Given the description of an element on the screen output the (x, y) to click on. 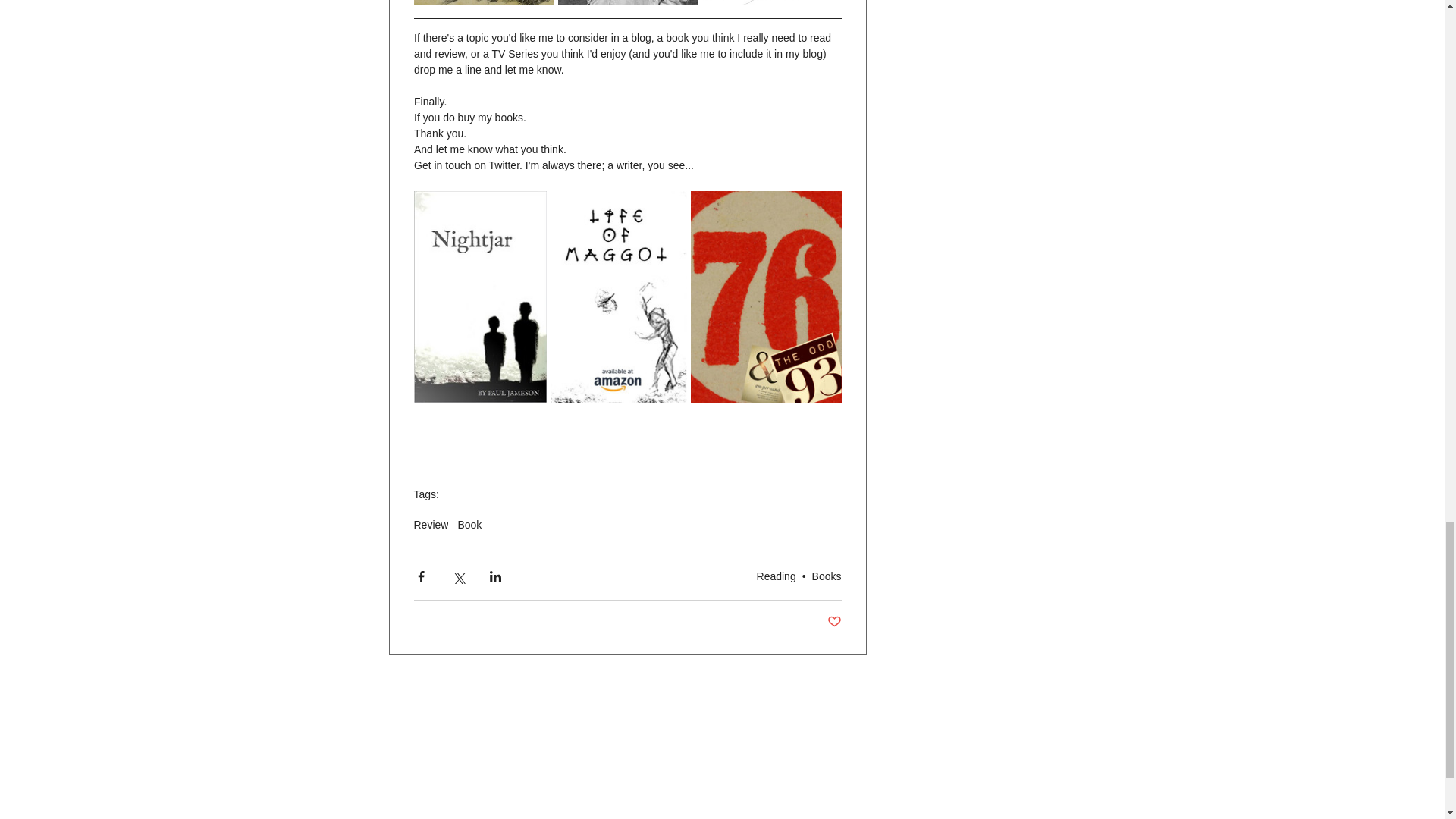
Reading (776, 576)
Post not marked as liked (834, 621)
Review (430, 524)
Book (469, 524)
Books (826, 576)
